Given the description of an element on the screen output the (x, y) to click on. 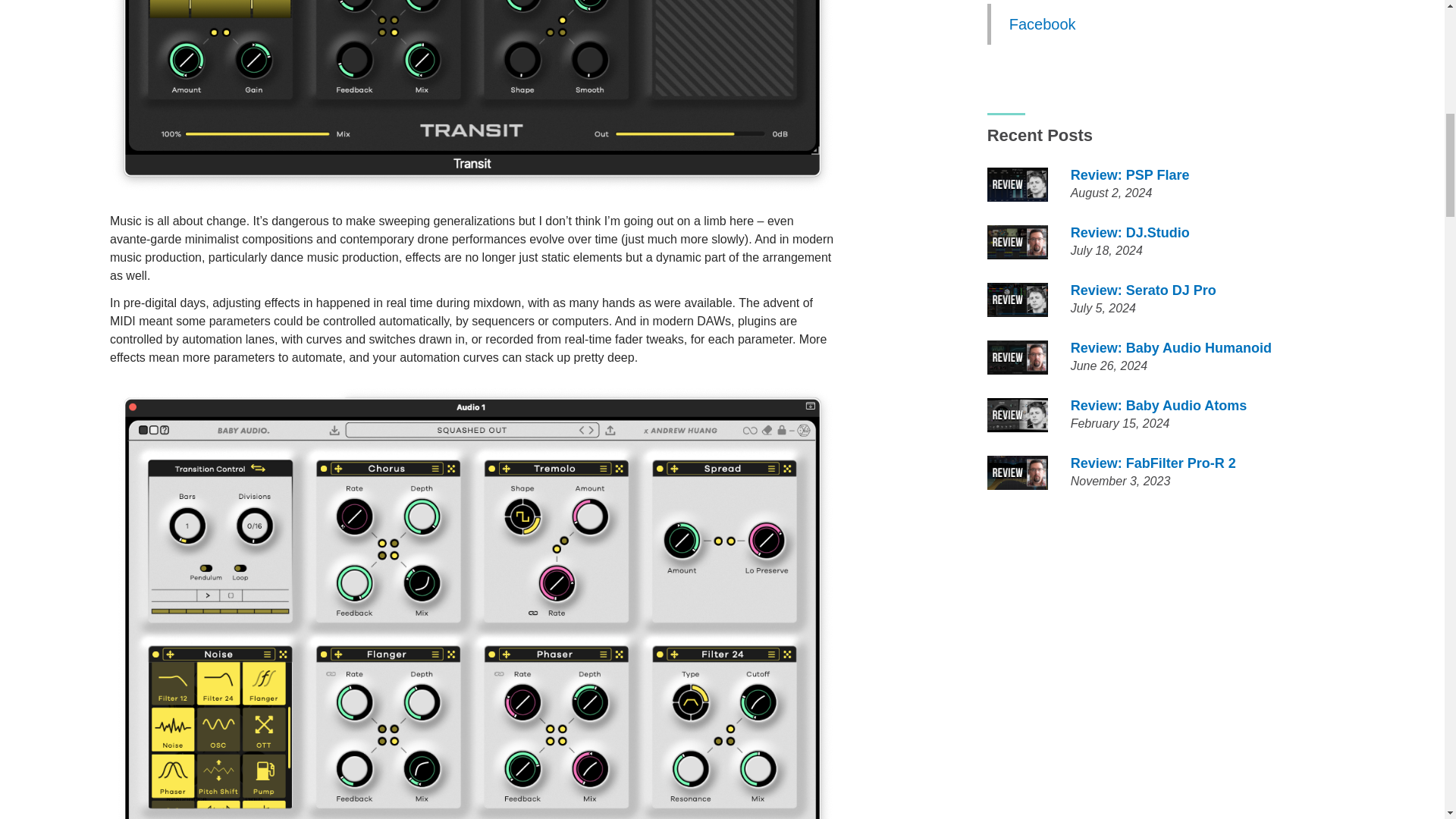
Review: FabFilter Pro-R 2 (1153, 462)
Facebook (1158, 24)
Review: Serato DJ Pro (1142, 290)
Review: PSP Flare (1129, 174)
Facebook (1042, 23)
Review: DJ.Studio (1129, 232)
Review: Baby Audio Humanoid (1170, 347)
Review: Baby Audio Atoms (1158, 405)
